Given the description of an element on the screen output the (x, y) to click on. 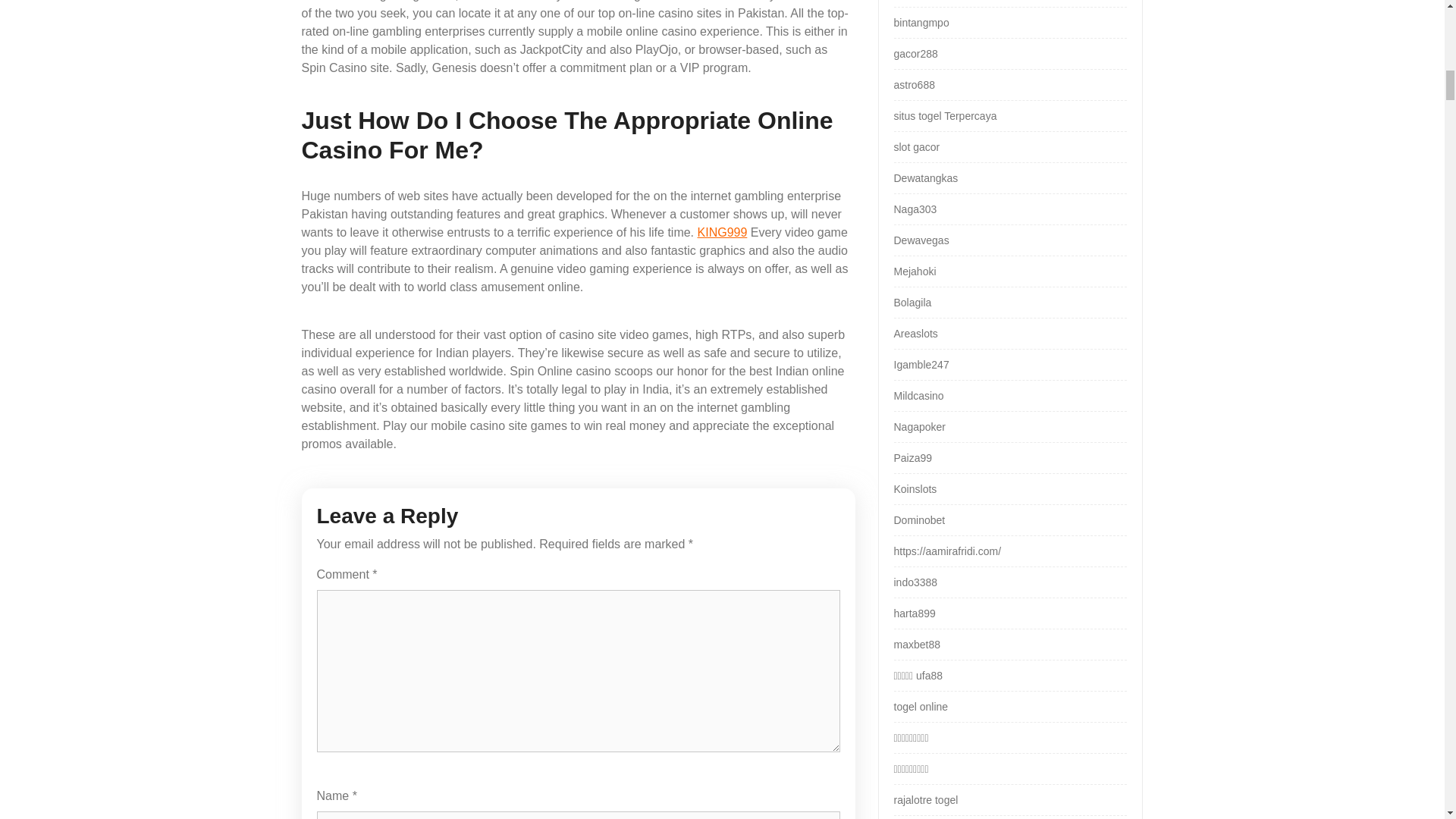
KING999 (722, 232)
